Given the description of an element on the screen output the (x, y) to click on. 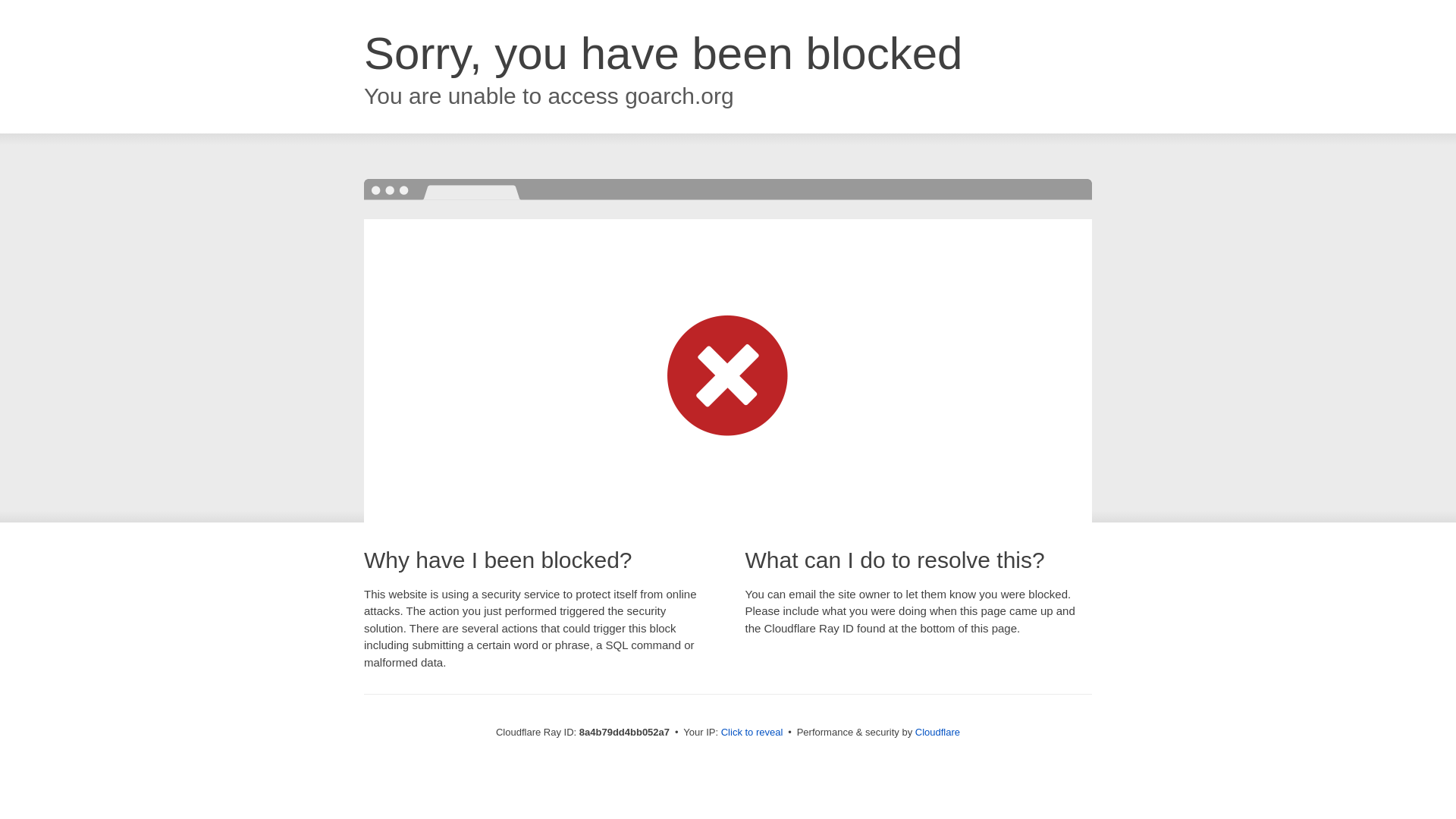
Click to reveal (751, 732)
Cloudflare (937, 731)
